Given the description of an element on the screen output the (x, y) to click on. 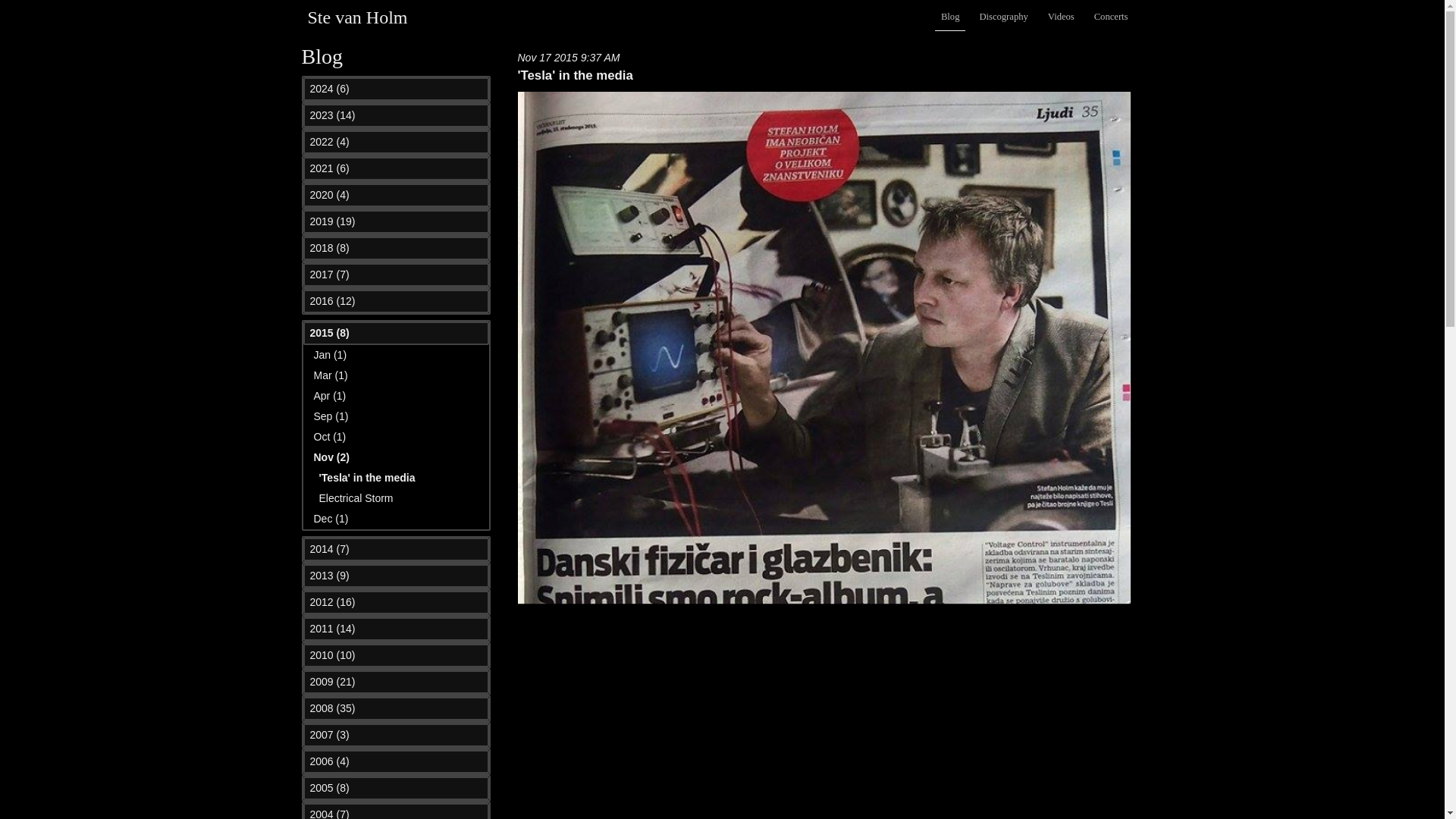
Concerts (1110, 17)
Electrical Storm (355, 498)
Discography (1002, 17)
Ste van Holm (357, 17)
Videos (1061, 17)
'Tesla' in the media (366, 477)
